Given the description of an element on the screen output the (x, y) to click on. 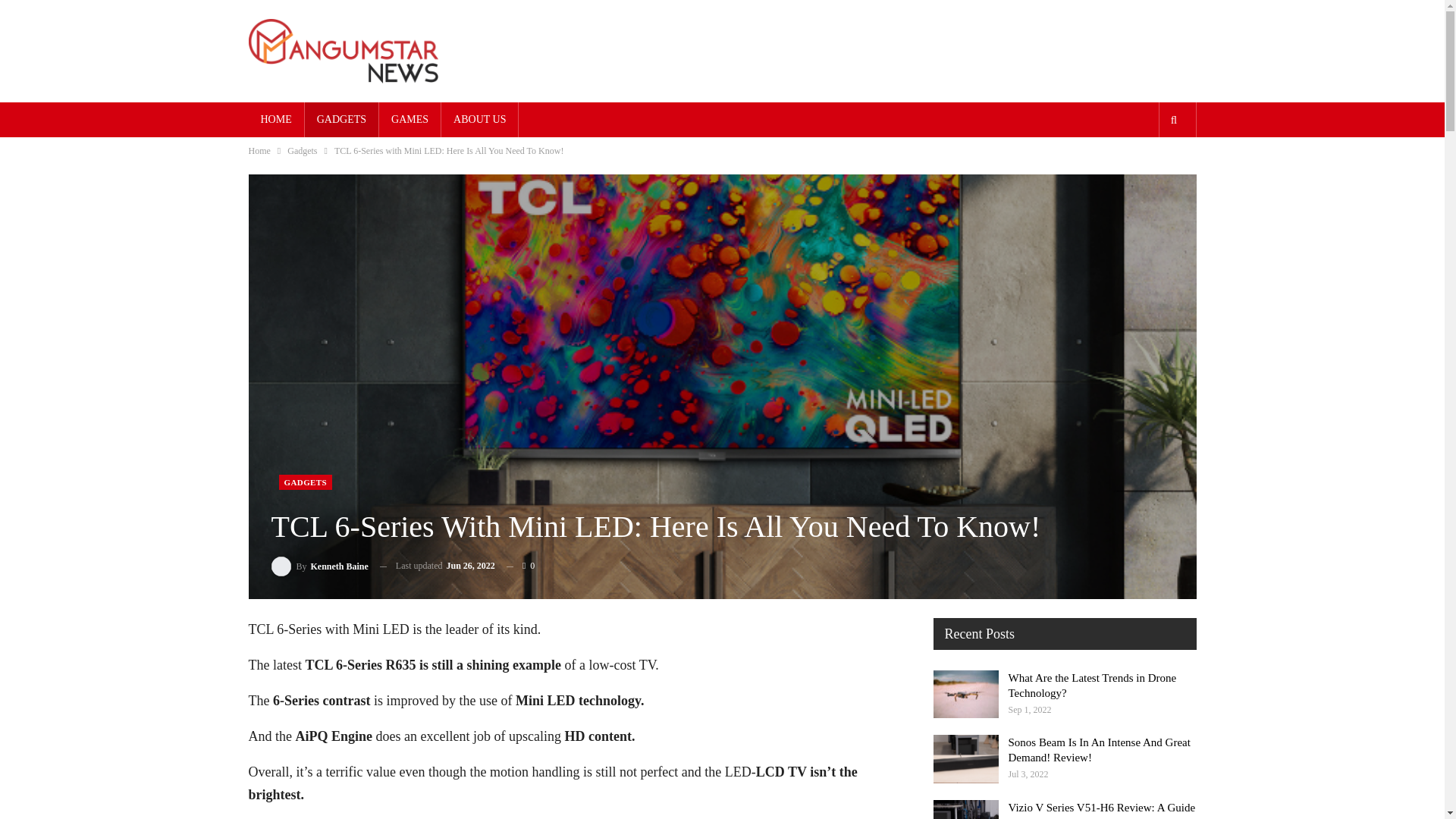
Gadgets (301, 150)
By Kenneth Baine (319, 566)
GADGETS (341, 119)
HOME (276, 119)
0 (520, 565)
ABOUT US (479, 119)
Browse Author Articles (319, 566)
GADGETS (306, 482)
Home (259, 150)
GAMES (409, 119)
